Given the description of an element on the screen output the (x, y) to click on. 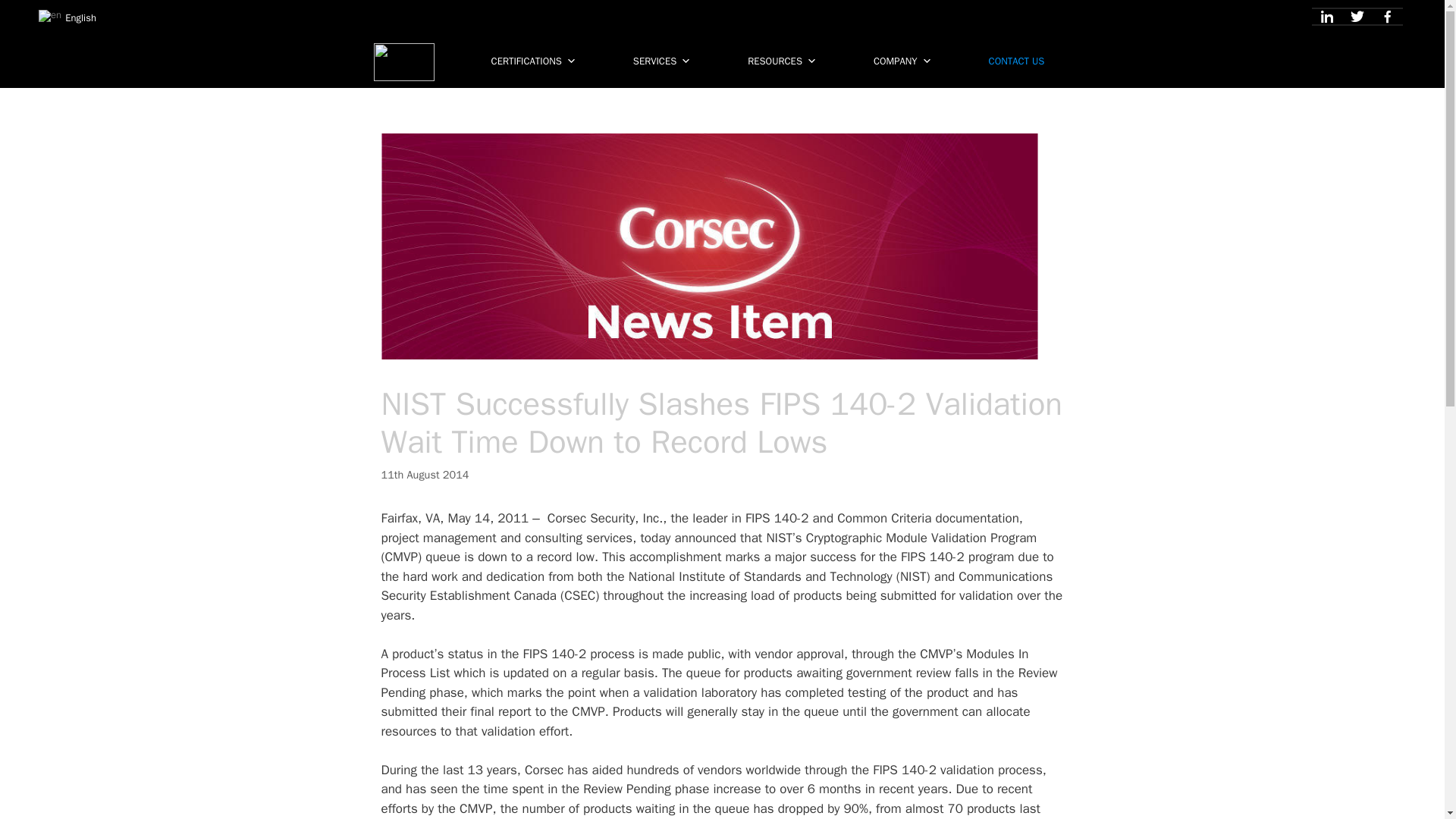
CERTIFICATIONS (537, 57)
Twitter (1357, 16)
English (66, 17)
SERVICES (665, 57)
RESOURCES (786, 57)
CONTACT US (1020, 57)
LinkedIn (1326, 16)
COMPANY (907, 57)
English (50, 15)
Facebook (1388, 16)
